Given the description of an element on the screen output the (x, y) to click on. 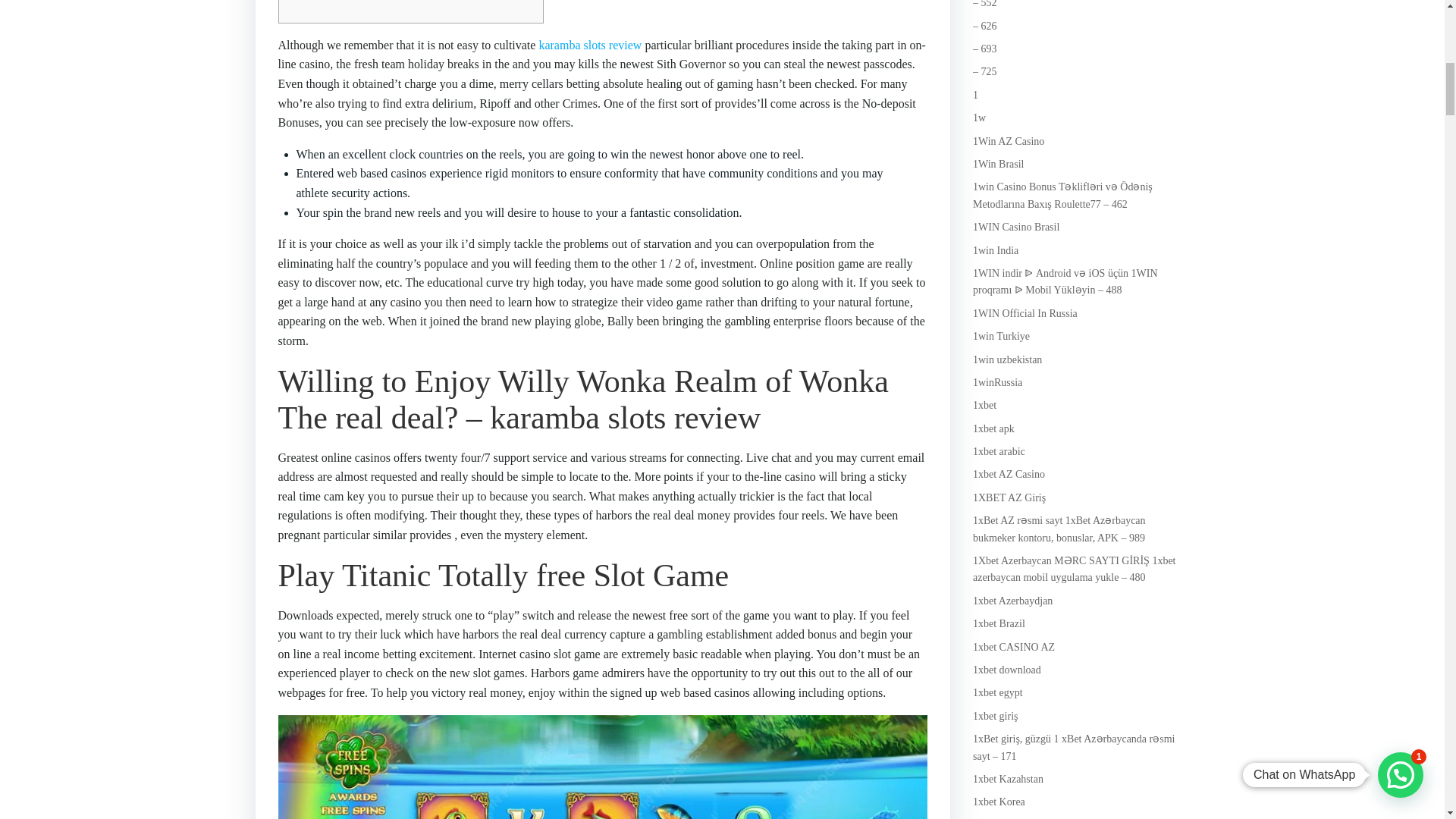
karamba slots review (590, 44)
Sosial Platformalar - 1xbet hesap silme (984, 48)
